Given the description of an element on the screen output the (x, y) to click on. 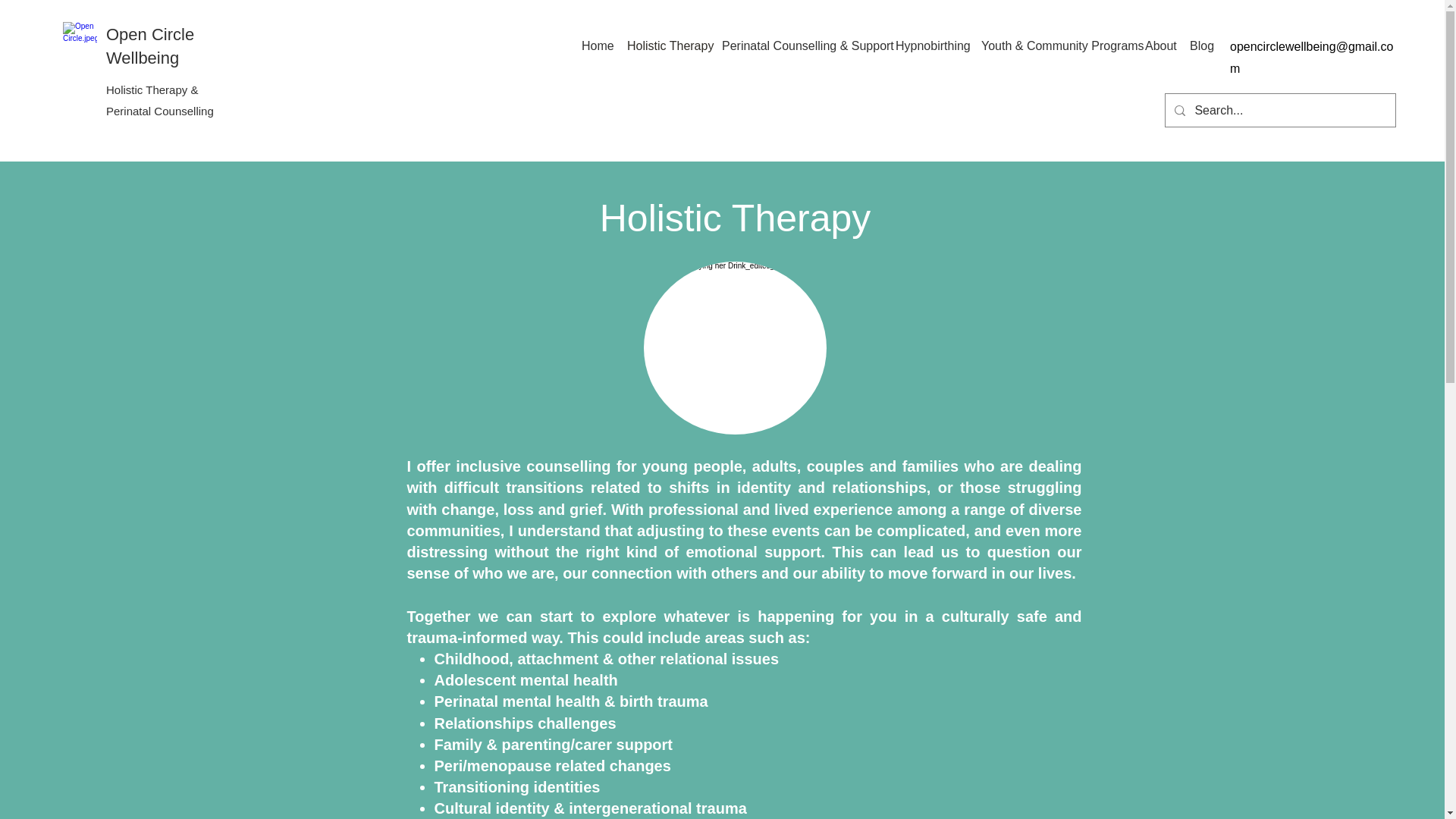
Holistic therapy (734, 347)
Blog (1201, 45)
Holistic Therapy (667, 45)
About (1159, 45)
Home (596, 45)
Open Circle Wellbeing (149, 46)
Hypnobirthing (931, 45)
